Given the description of an element on the screen output the (x, y) to click on. 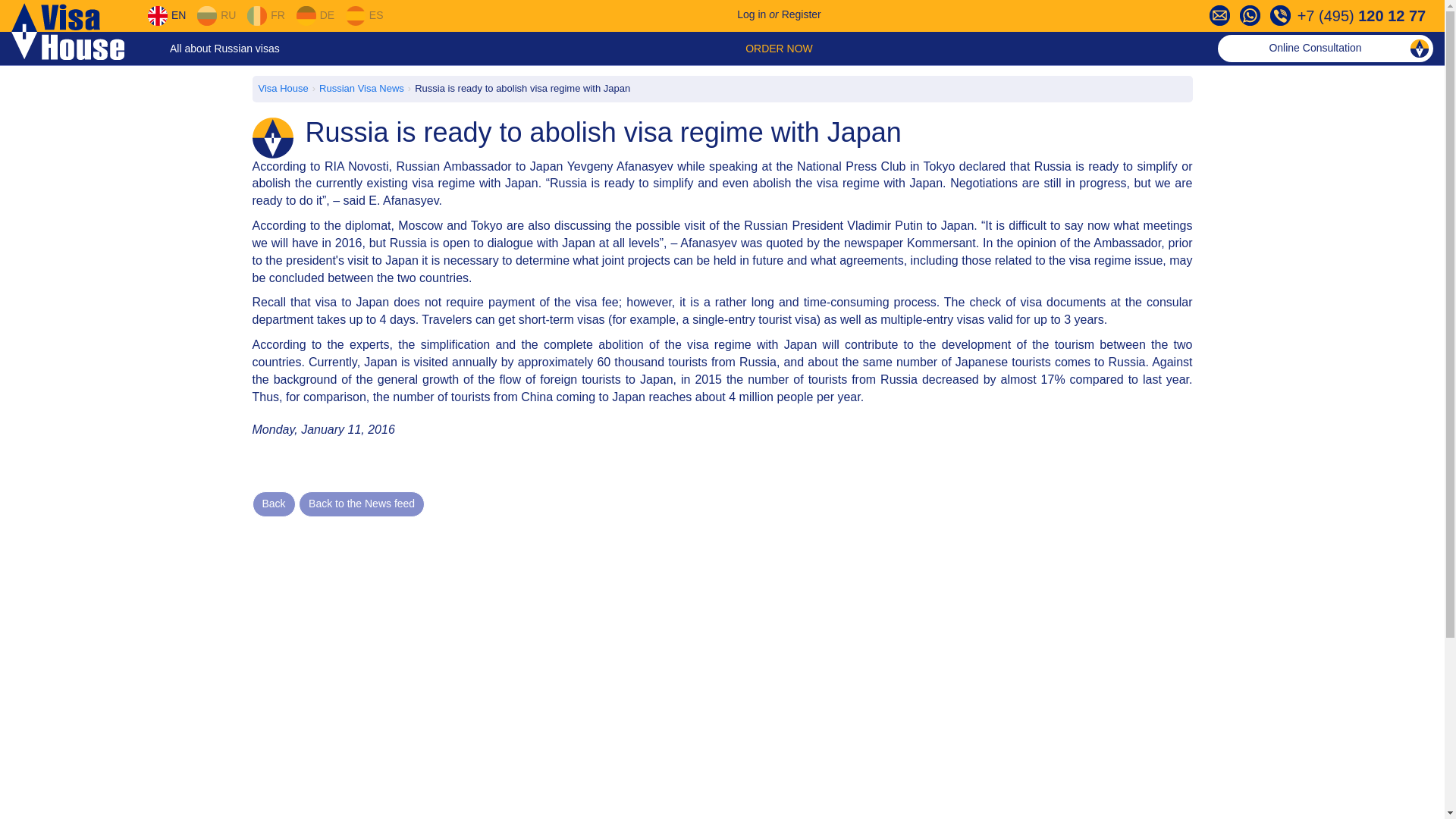
ORDER NOW (778, 48)
EN (166, 15)
DE (314, 15)
All about Russian visas (224, 48)
FR (265, 15)
ES (364, 15)
RU (215, 15)
Register (801, 14)
Log in (750, 14)
